Given the description of an element on the screen output the (x, y) to click on. 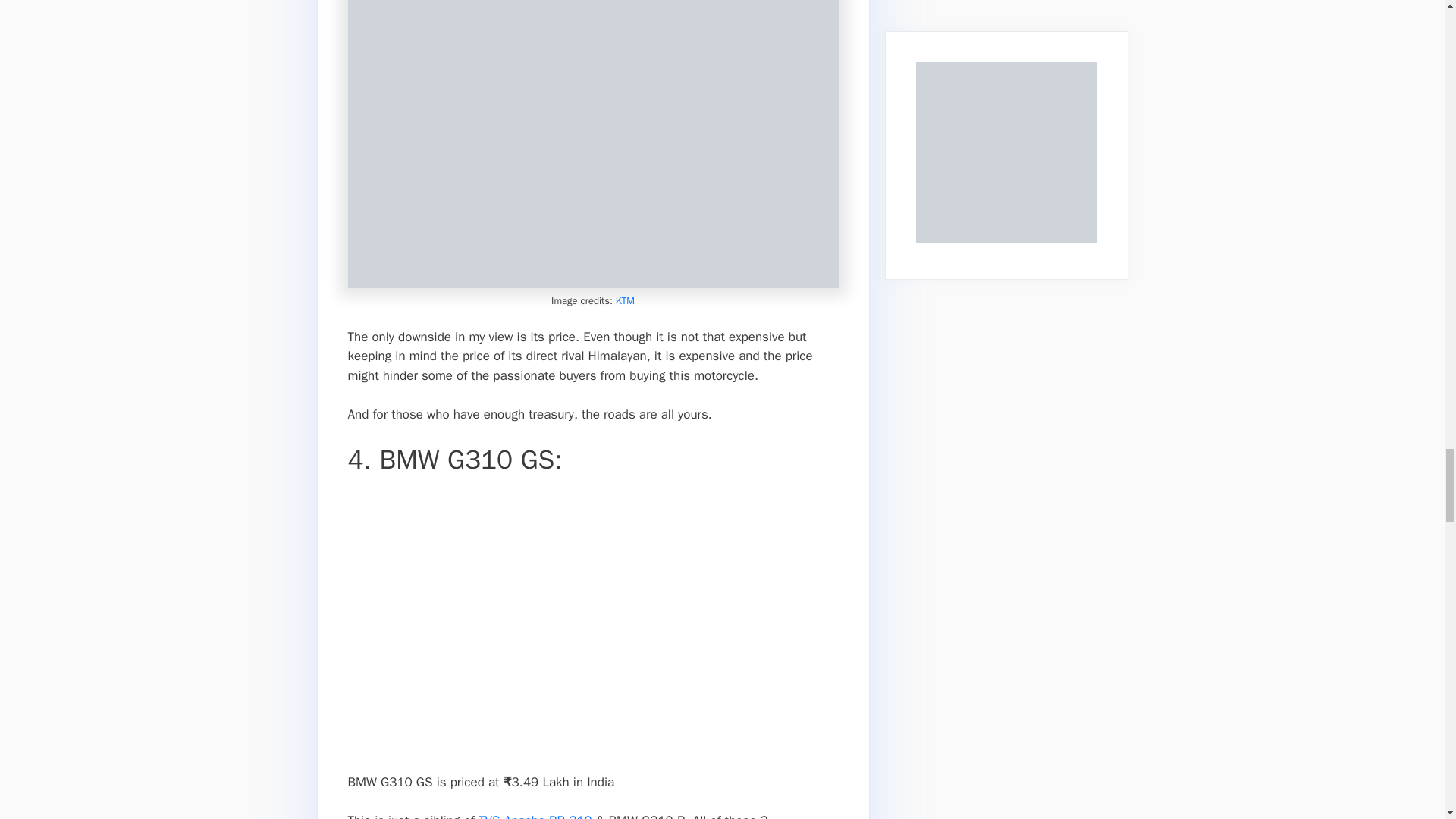
TVS Apache RR 310 (535, 816)
KTM (624, 300)
